Given the description of an element on the screen output the (x, y) to click on. 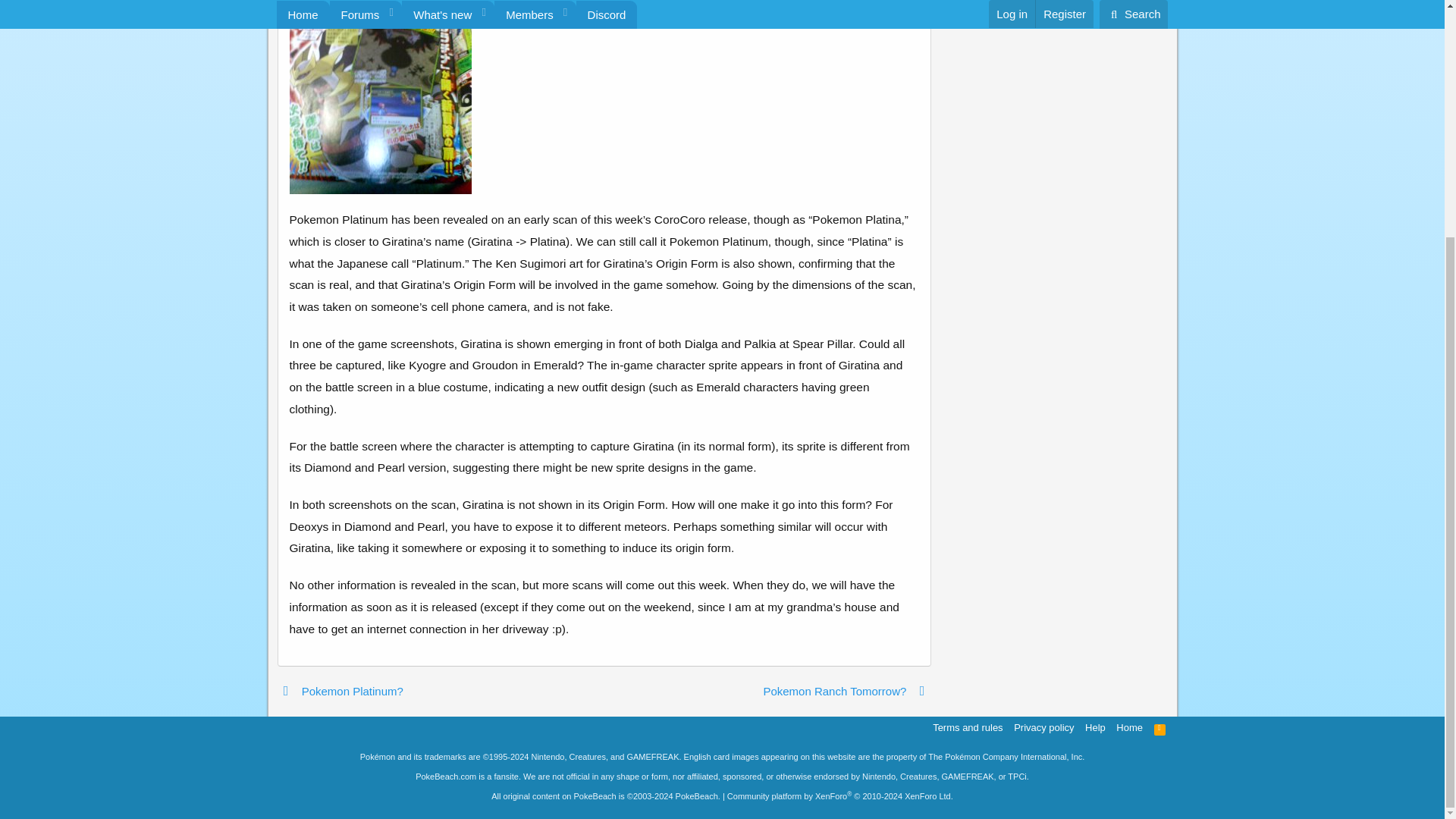
Pokemon Ranch Tomorrow? (846, 691)
Pokemon Platinum? (340, 691)
RSS (1160, 727)
